Given the description of an element on the screen output the (x, y) to click on. 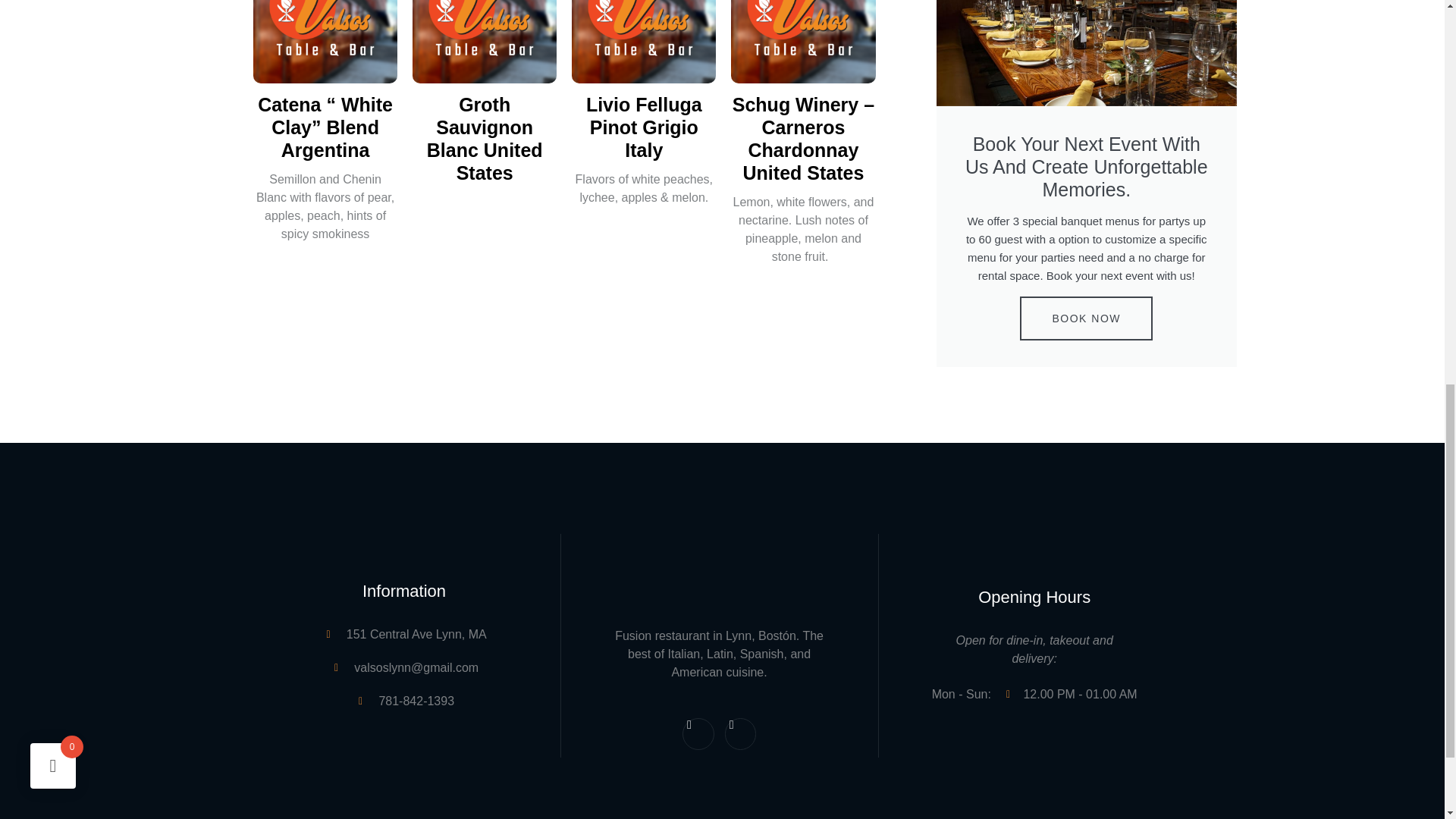
12.00 PM - 01.00 AM (1071, 694)
Mon - Sun: (968, 694)
Groth Sauvignon Blanc United States (484, 138)
Open for dine-in, takeout and delivery: (1035, 650)
Livio Felluga Pinot Grigio Italy (644, 127)
Opening Hours (719, 734)
Information (1035, 601)
